Given the description of an element on the screen output the (x, y) to click on. 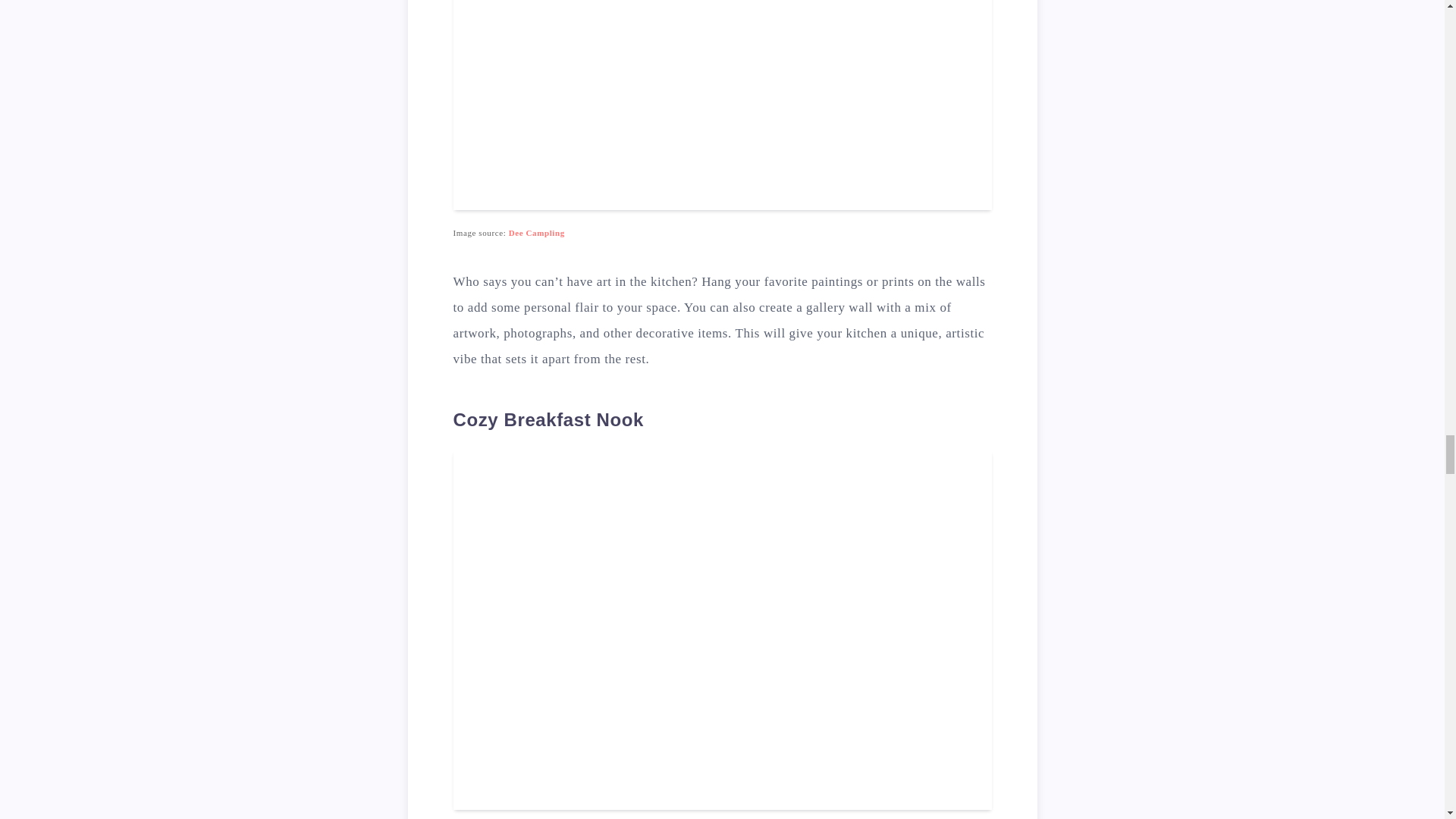
Dee Campling (536, 232)
